Given the description of an element on the screen output the (x, y) to click on. 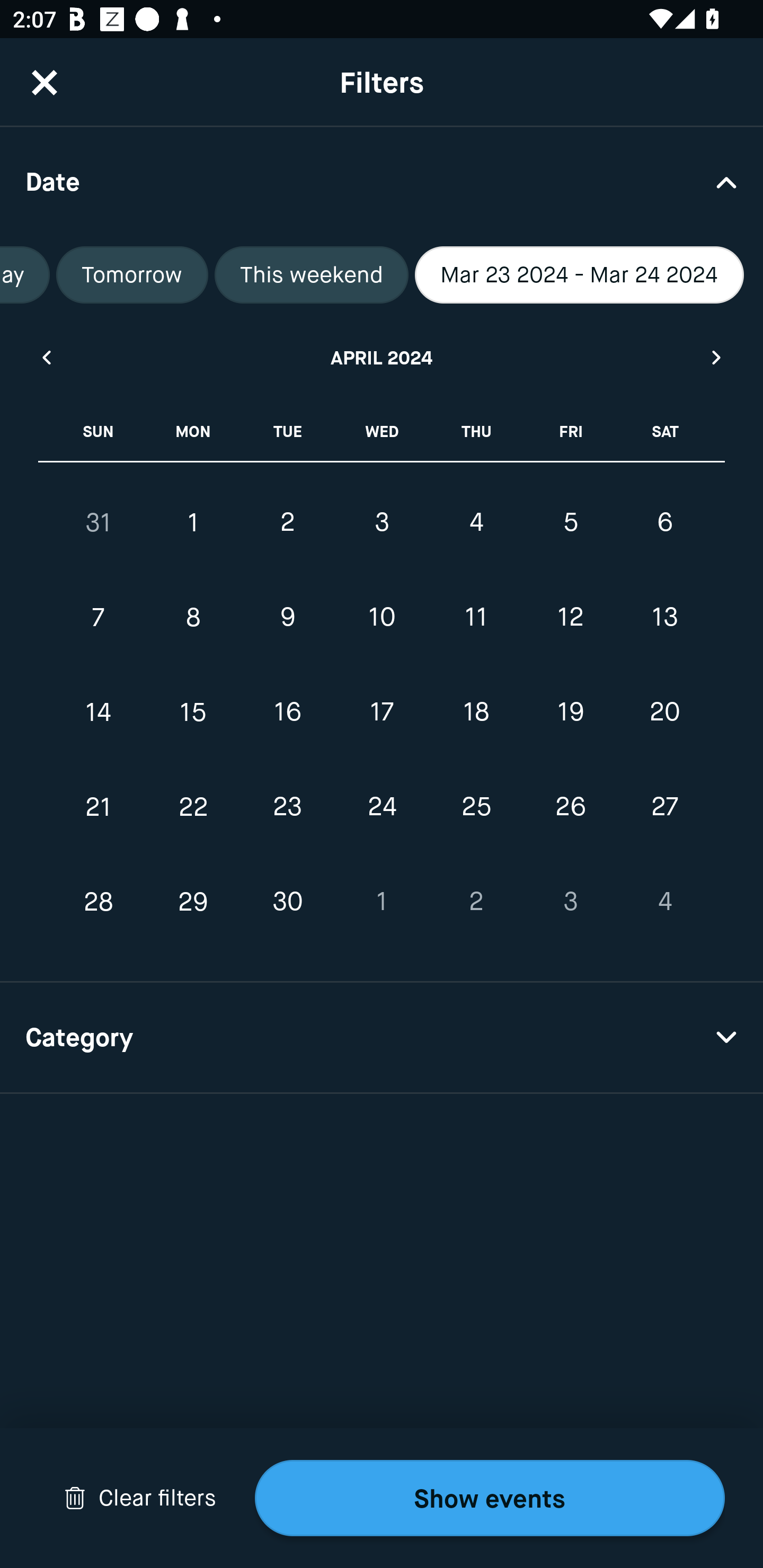
CloseButton (44, 82)
Date Drop Down Arrow (381, 181)
Tomorrow (132, 274)
This weekend (311, 274)
Mar 23 2024 - Mar 24 2024 (579, 274)
Previous (45, 357)
Next (717, 357)
31 (98, 522)
1 (192, 522)
2 (287, 522)
3 (381, 522)
4 (475, 522)
5 (570, 522)
6 (664, 522)
7 (98, 617)
8 (192, 617)
9 (287, 617)
10 (381, 617)
11 (475, 617)
12 (570, 617)
13 (664, 617)
14 (98, 711)
15 (192, 711)
16 (287, 711)
17 (381, 711)
18 (475, 711)
19 (570, 711)
20 (664, 711)
21 (98, 806)
22 (192, 806)
23 (287, 806)
24 (381, 806)
25 (475, 806)
26 (570, 806)
27 (664, 806)
28 (98, 901)
29 (192, 901)
30 (287, 901)
1 (381, 901)
2 (475, 901)
3 (570, 901)
4 (664, 901)
Category Drop Down Arrow (381, 1038)
Drop Down Arrow Clear filters (139, 1497)
Show events (489, 1497)
